Given the description of an element on the screen output the (x, y) to click on. 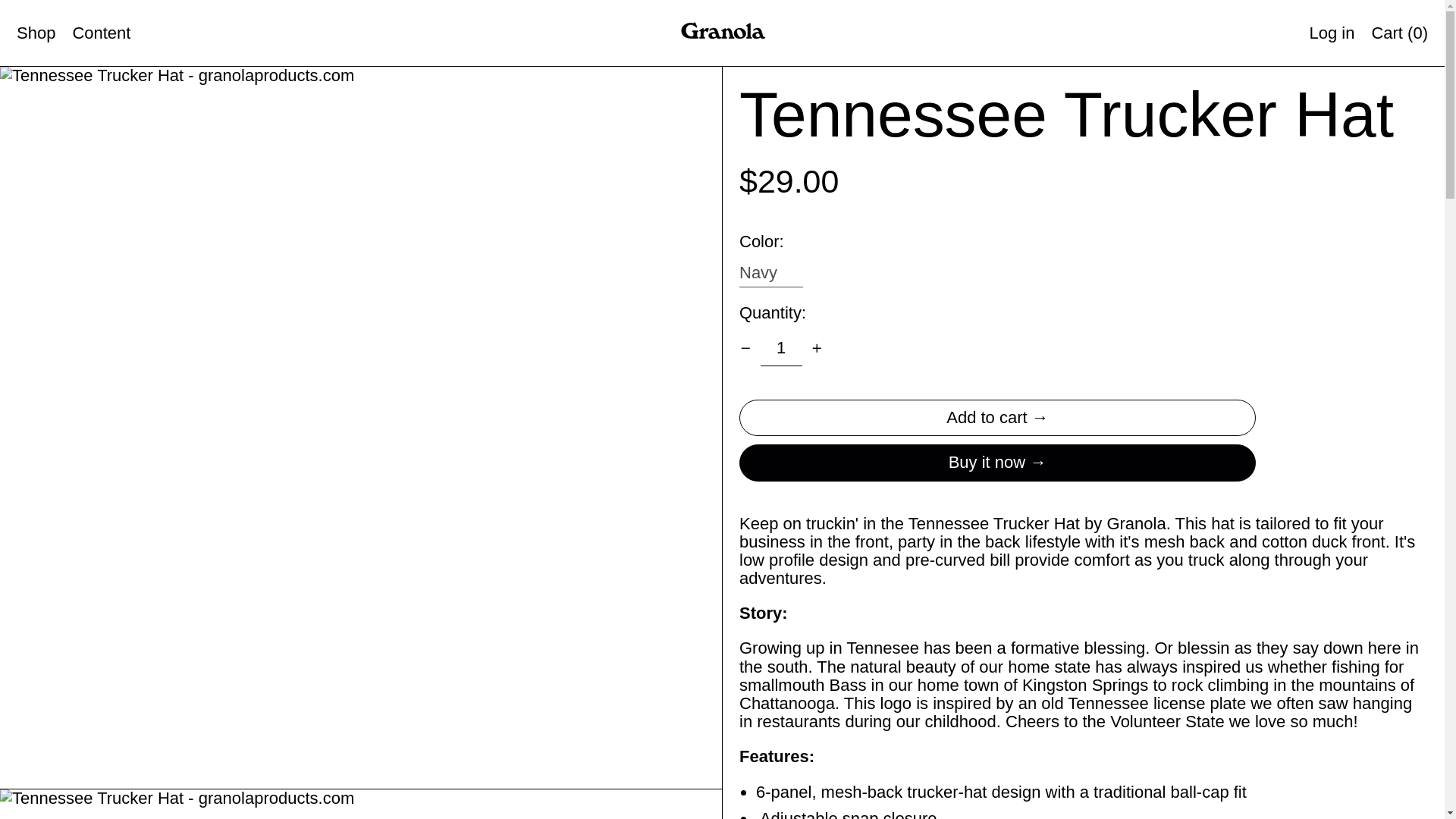
Content (101, 32)
Buy it now (997, 462)
1 (781, 348)
Log in (1331, 32)
